Given the description of an element on the screen output the (x, y) to click on. 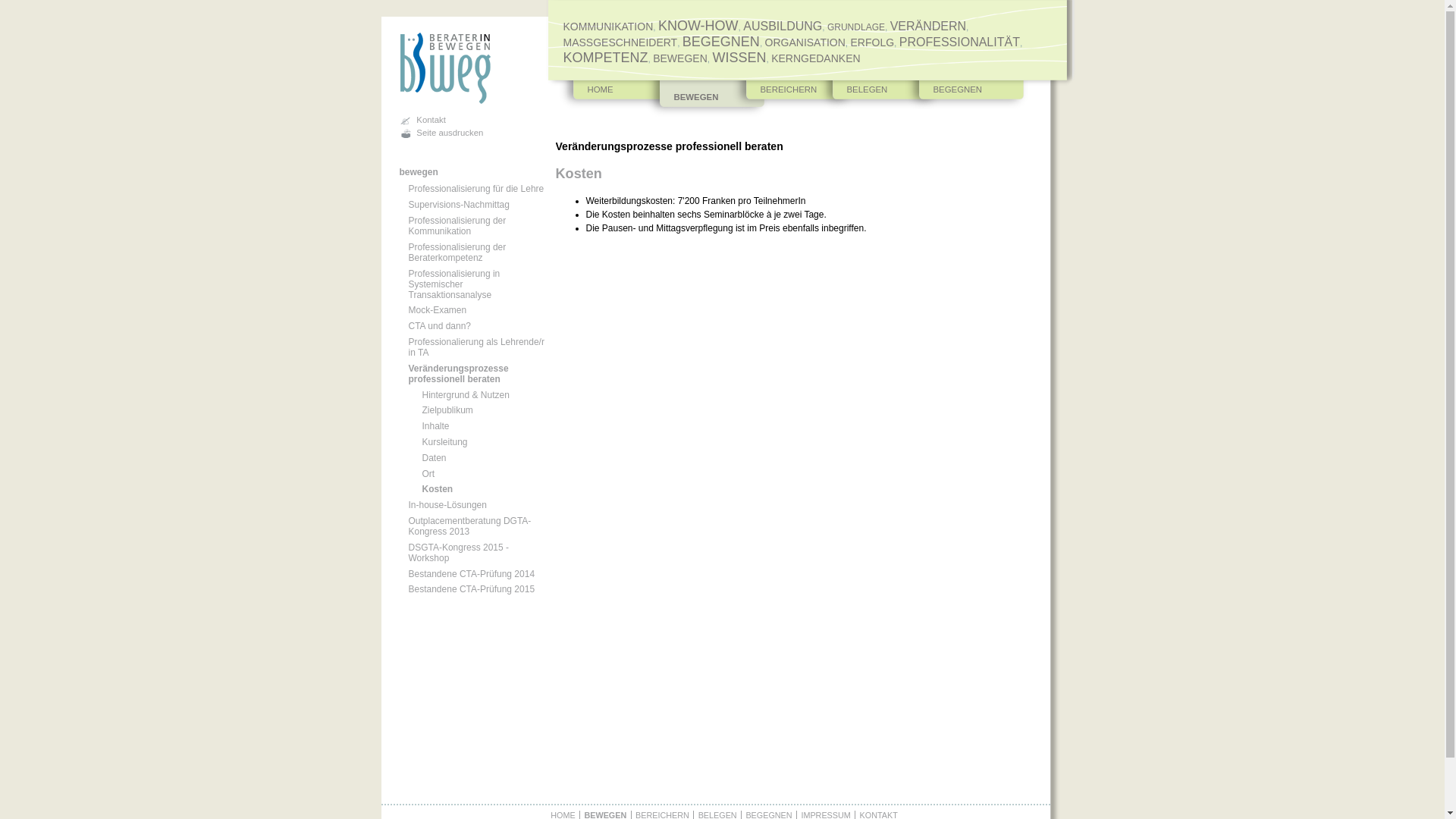
BEREICHERN Element type: text (793, 94)
MASSGESCHNEIDERT Element type: text (619, 42)
Professionalierung als Lehrende/r in TA Element type: text (466, 346)
BEGEGNEN Element type: text (965, 94)
DSGTA-Kongress 2015 - Workshop Element type: text (466, 552)
Professionalisierung der Kommunikation Element type: text (466, 225)
Inhalte Element type: text (473, 426)
bewegen Element type: text (417, 171)
ERFOLG Element type: text (872, 42)
Seite ausdrucken Element type: text (440, 132)
Hintergrund & Nutzen Element type: text (473, 395)
Outplacementberatung DGTA-Kongress 2013 Element type: text (466, 525)
KOMPETENZ Element type: text (604, 57)
GRUNDLAGE Element type: text (855, 26)
KOMMUNIKATION Element type: text (607, 26)
KERNGEDANKEN Element type: text (815, 58)
BEWEGEN Element type: text (679, 58)
CTA und dann? Element type: text (466, 326)
Ort Element type: text (473, 473)
Kosten Element type: text (473, 489)
BEGEGNEN Element type: text (720, 41)
Professionalisierung in Systemischer Transaktionsanalyse Element type: text (466, 284)
WISSEN Element type: text (738, 57)
Mock-Examen Element type: text (466, 310)
KNOW-HOW Element type: text (698, 25)
Professionalisierung der Beraterkompetenz Element type: text (466, 252)
Kursleitung Element type: text (473, 442)
Supervisions-Nachmittag Element type: text (466, 204)
Kontakt Element type: text (421, 119)
Zielpublikum Element type: text (473, 410)
AUSBILDUNG Element type: text (782, 25)
ORGANISATION Element type: text (805, 42)
BELEGEN Element type: text (879, 94)
BEWEGEN Element type: text (706, 98)
HOME Element type: text (620, 94)
Daten Element type: text (473, 457)
